Given the description of an element on the screen output the (x, y) to click on. 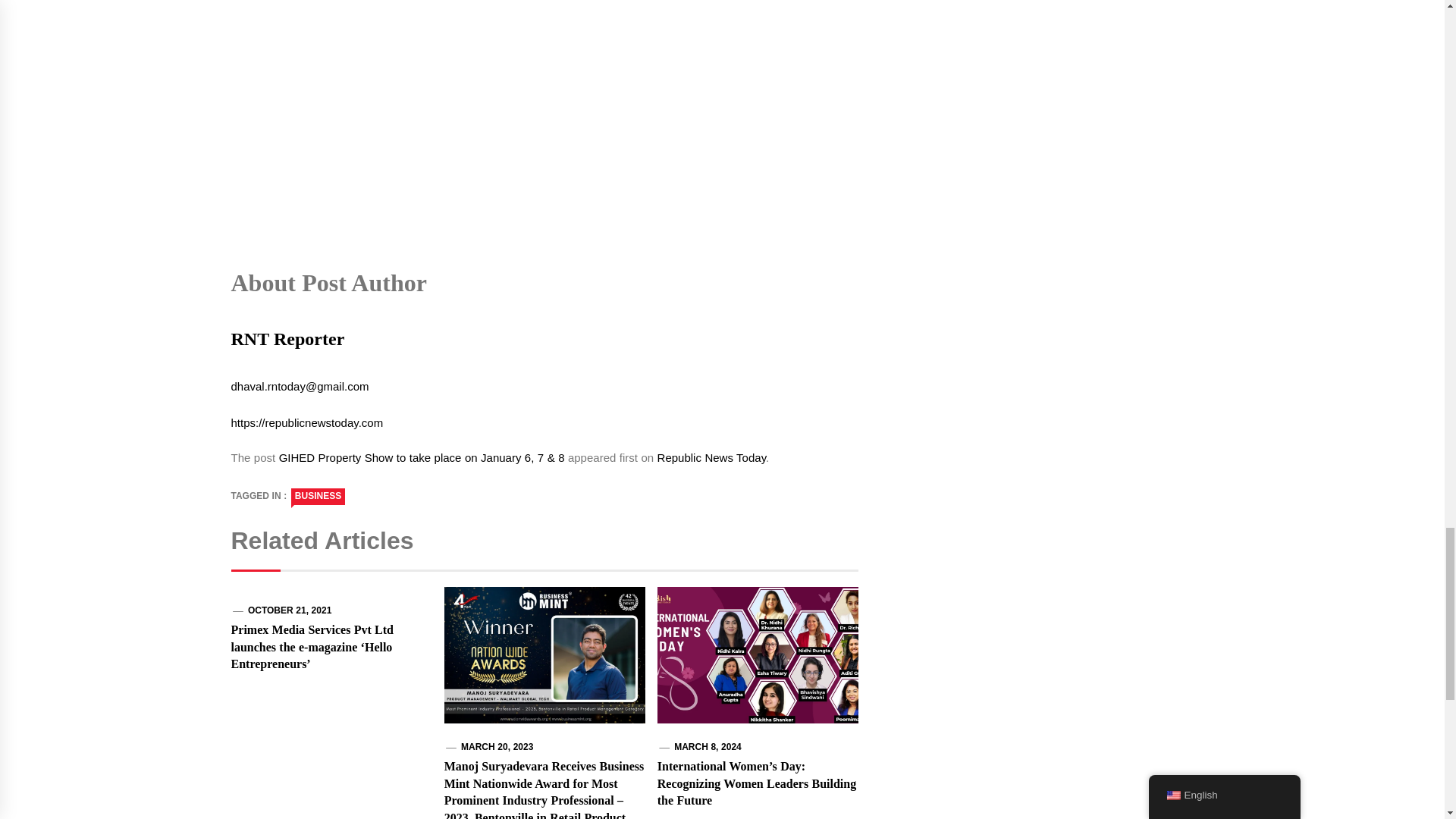
Republic News Today (711, 457)
MARCH 20, 2023 (496, 747)
RNT Reporter (286, 350)
BUSINESS (318, 496)
OCTOBER 21, 2021 (289, 610)
MARCH 8, 2024 (707, 747)
